Given the description of an element on the screen output the (x, y) to click on. 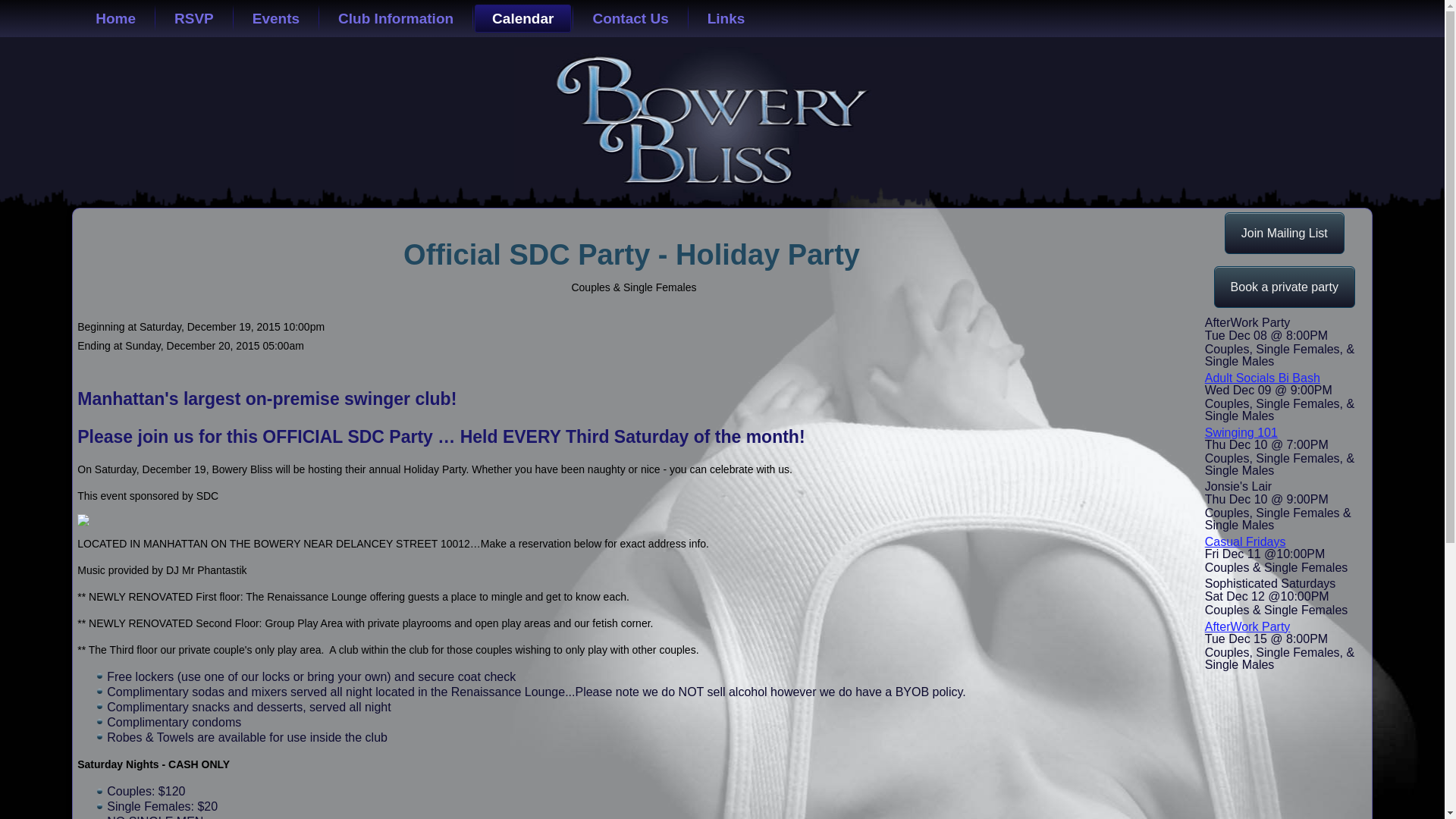
Adult Socials Bi Bash (1262, 377)
Contact Us (630, 18)
Events (275, 18)
Club Information (395, 18)
RSVP (194, 18)
Book a private party (1284, 286)
Home (115, 18)
Calendar (522, 18)
AfterWork Party (1247, 626)
Join Mailing List (1283, 232)
Swinging 101 (1241, 431)
Links (726, 18)
Casual Fridays (1245, 541)
